Given the description of an element on the screen output the (x, y) to click on. 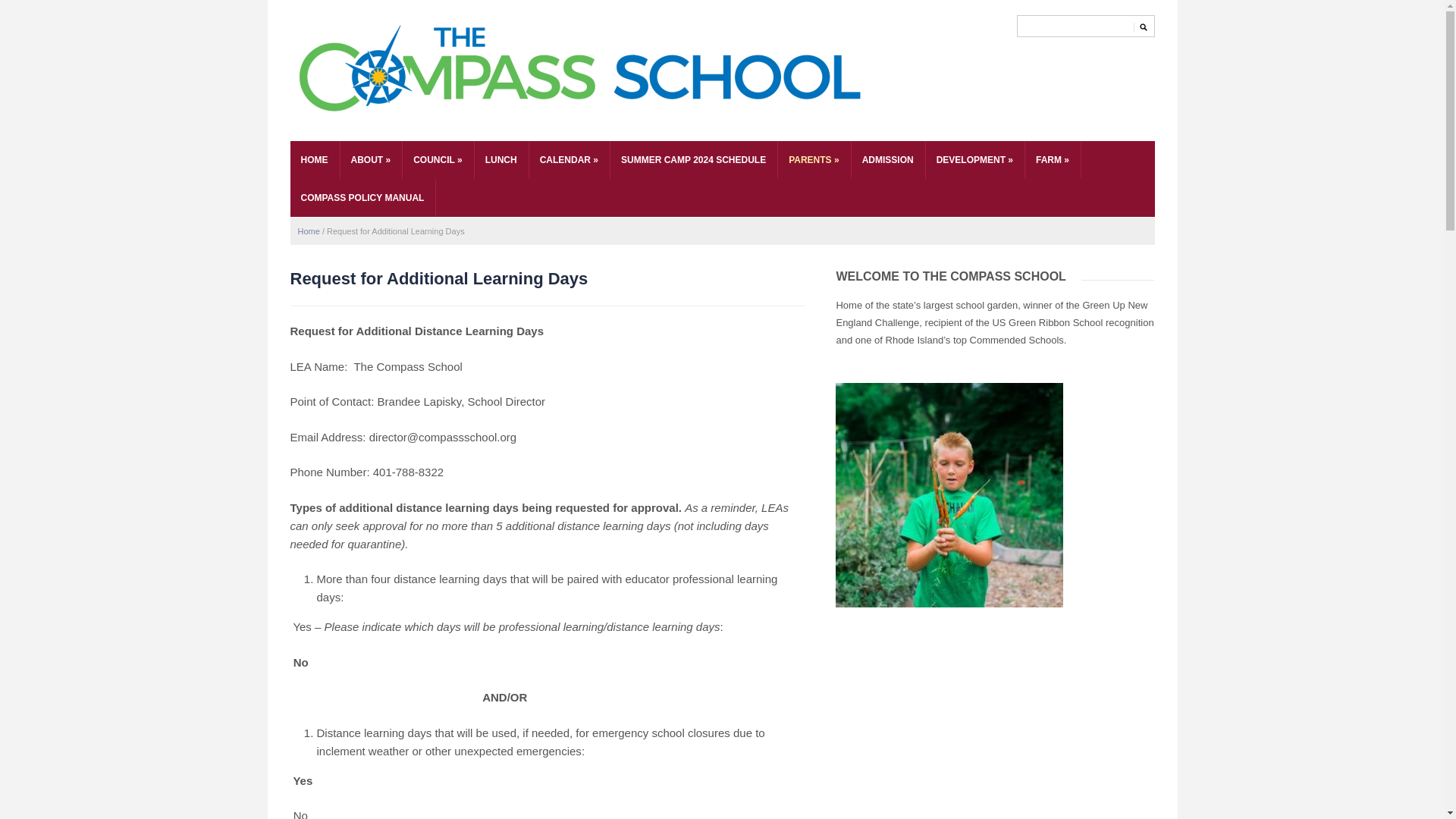
Nurturing Love of Learning, Self, Others, and Planet (579, 71)
COMPASS POLICY MANUAL (362, 198)
SUMMER CAMP 2024 SCHEDULE (693, 159)
HOME (314, 159)
LUNCH (501, 159)
Home (307, 230)
ADMISSION (887, 159)
